Given the description of an element on the screen output the (x, y) to click on. 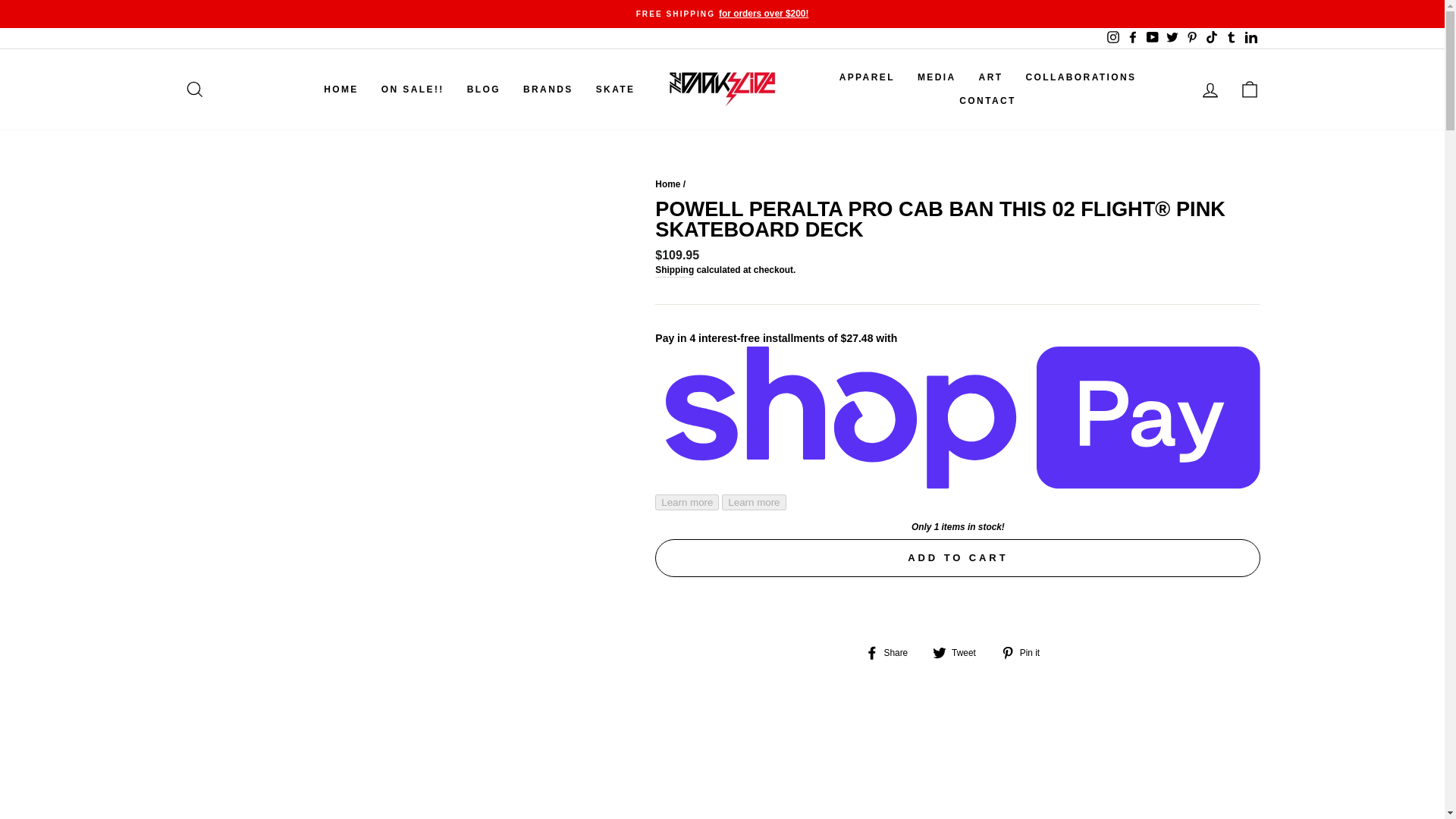
The Dark Slide on Instagram (1112, 37)
The Dark Slide on TikTok (1211, 37)
The Dark Slide on YouTube (1151, 37)
The Dark Slide on Facebook (1131, 37)
Share on Facebook (892, 652)
The Dark Slide on Tumblr (1230, 37)
Tweet on Twitter (960, 652)
Back to the frontpage (667, 184)
The Dark Slide on LinkedIn (1250, 37)
